Given the description of an element on the screen output the (x, y) to click on. 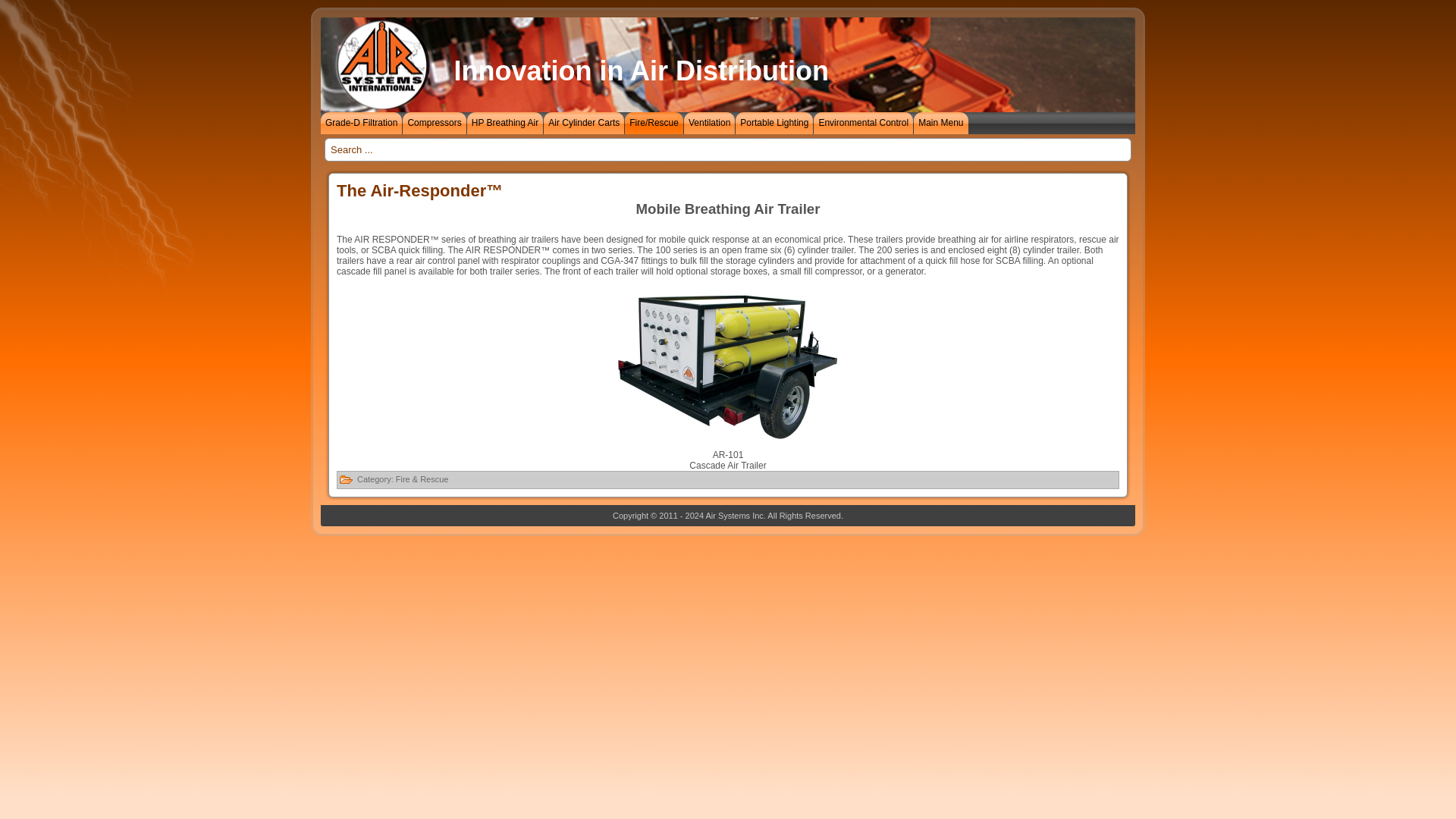
Innovation in Air Distribution (640, 70)
Air Cylinder Carts (583, 123)
Search ... (727, 149)
HP Breathing Air (505, 123)
Compressors (434, 123)
Grade-D Filtration (360, 123)
Search ... (727, 149)
